Given the description of an element on the screen output the (x, y) to click on. 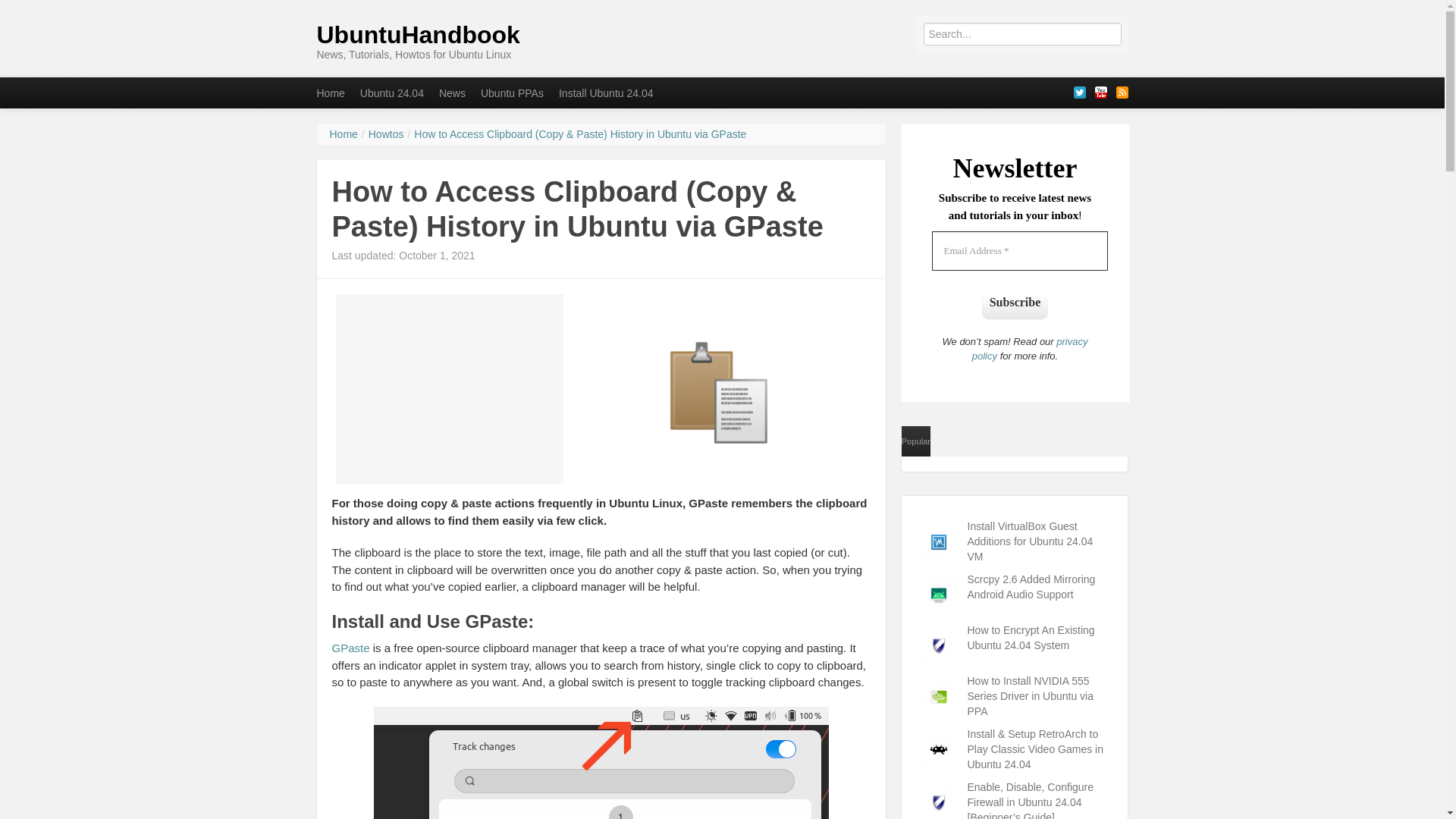
Ubuntu PPAs (512, 92)
UbuntuHandbook (418, 34)
News (451, 92)
Home (330, 92)
Howtos (386, 133)
Home (342, 133)
Ubuntu 24.04 (391, 92)
Ubuntu PPAs (512, 92)
Home (330, 92)
News (451, 92)
Subscribe (1014, 301)
Email Address (1018, 250)
Install Ubuntu 24.04 (606, 92)
Install Ubuntu 24.04 (606, 92)
UbuntuHandbook (418, 34)
